Given the description of an element on the screen output the (x, y) to click on. 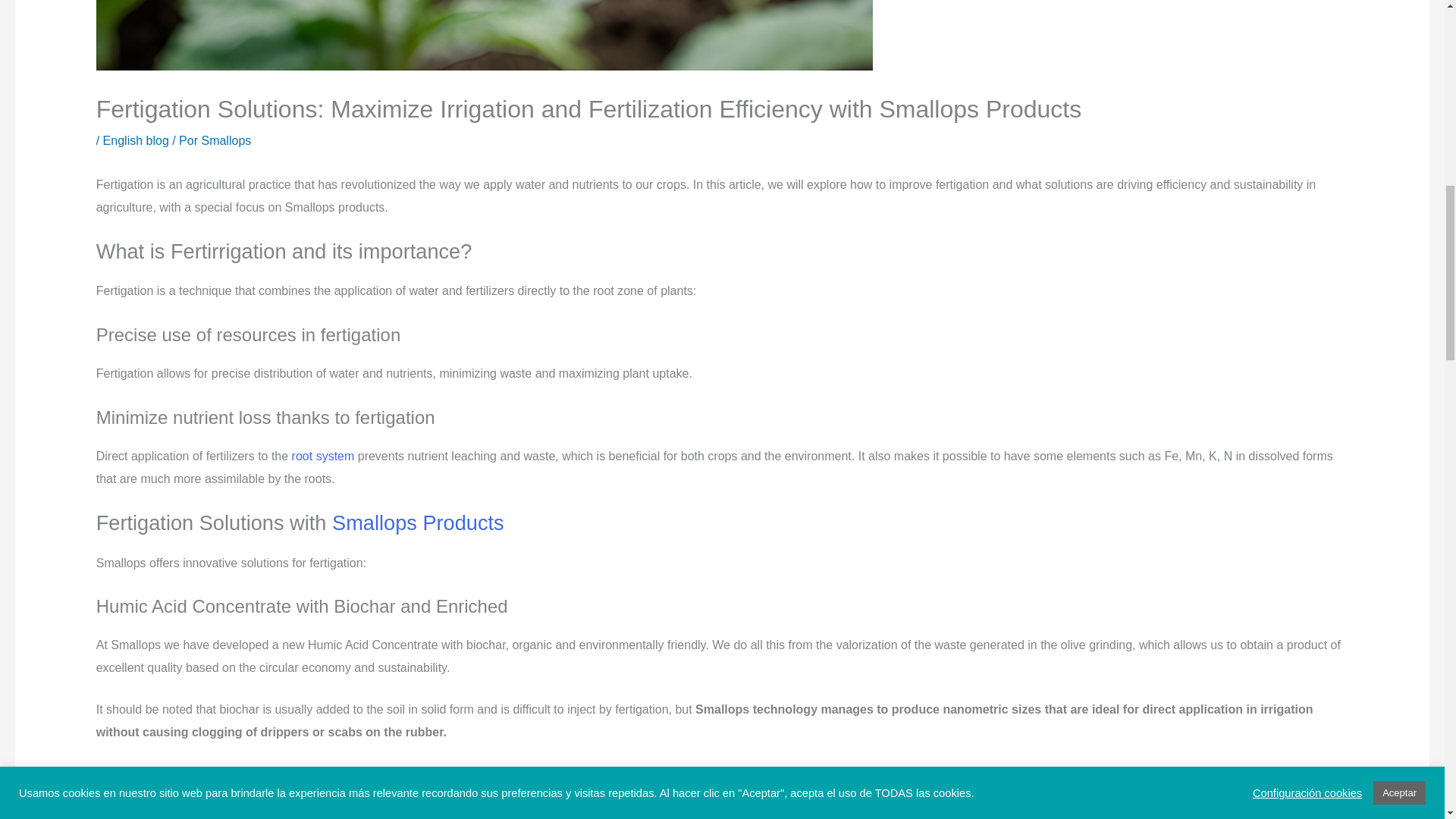
Ver todas las entradas de Smallops (225, 140)
root system (323, 455)
Smallops Products  (420, 522)
Smallops (225, 140)
English blog (135, 140)
